Given the description of an element on the screen output the (x, y) to click on. 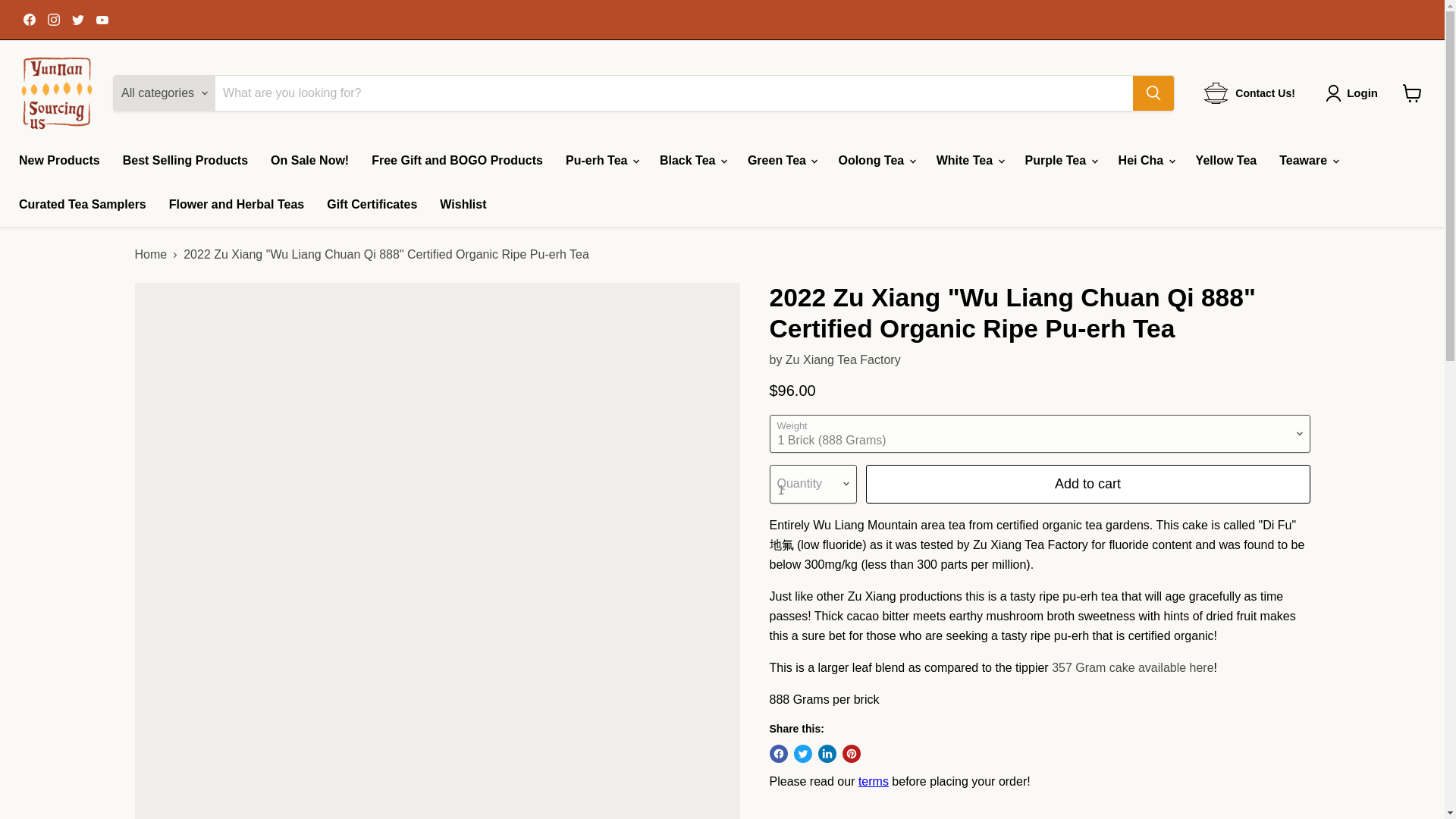
Find us on Twitter (77, 19)
On Sale Now! (309, 160)
New Products (59, 160)
Contact Us! (1249, 93)
Find us on YouTube (102, 19)
Login (1362, 93)
YouTube (102, 19)
Find us on Facebook (29, 19)
Best Selling Products (185, 160)
Facebook (29, 19)
